Given the description of an element on the screen output the (x, y) to click on. 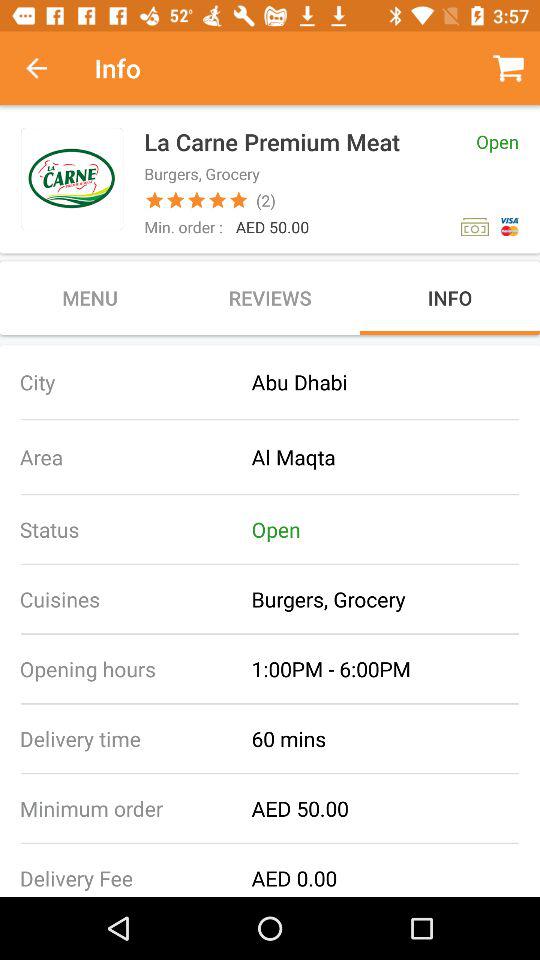
launch icon to the right of the area icon (395, 456)
